Given the description of an element on the screen output the (x, y) to click on. 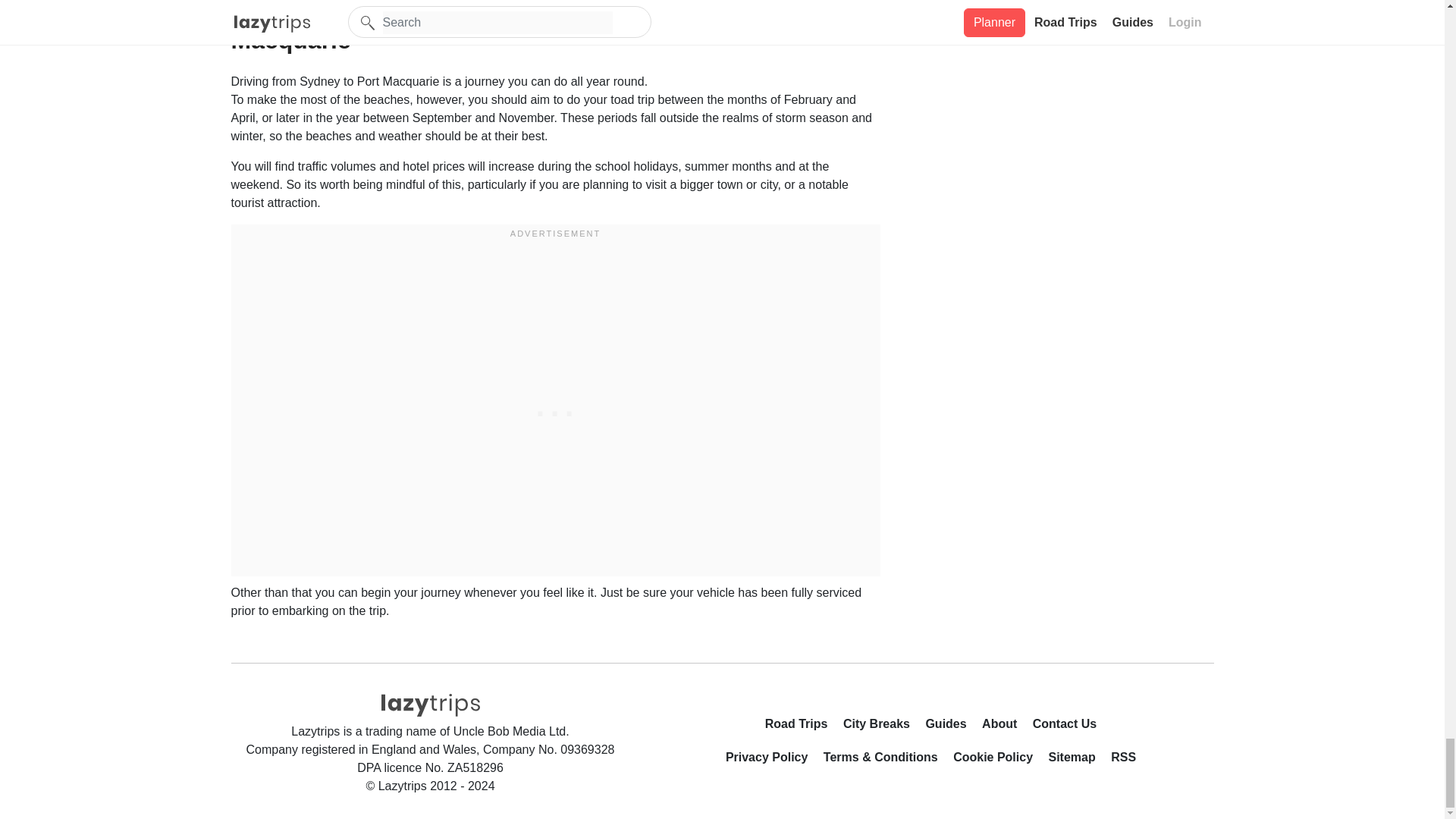
City Breaks (882, 726)
Privacy Policy (773, 760)
Guides (951, 726)
Cookie Policy (999, 760)
Road Trips (802, 726)
RSS (1122, 760)
Sitemap (1077, 760)
Contact Us (1064, 726)
About (1005, 726)
